Given the description of an element on the screen output the (x, y) to click on. 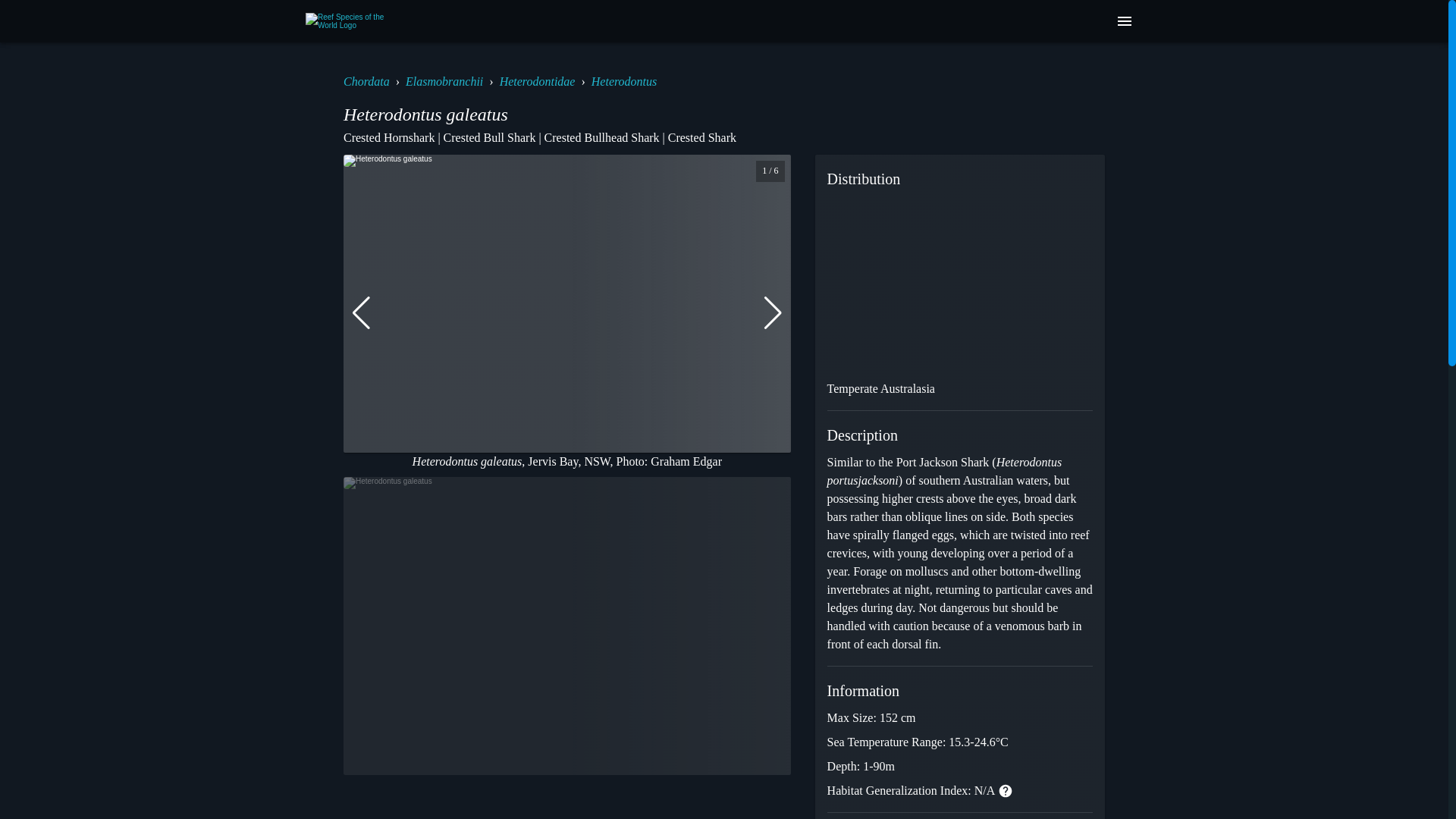
Heterodontidae (537, 81)
Heterodontus (624, 81)
Elasmobranchii (444, 81)
Chordata (366, 81)
